Given the description of an element on the screen output the (x, y) to click on. 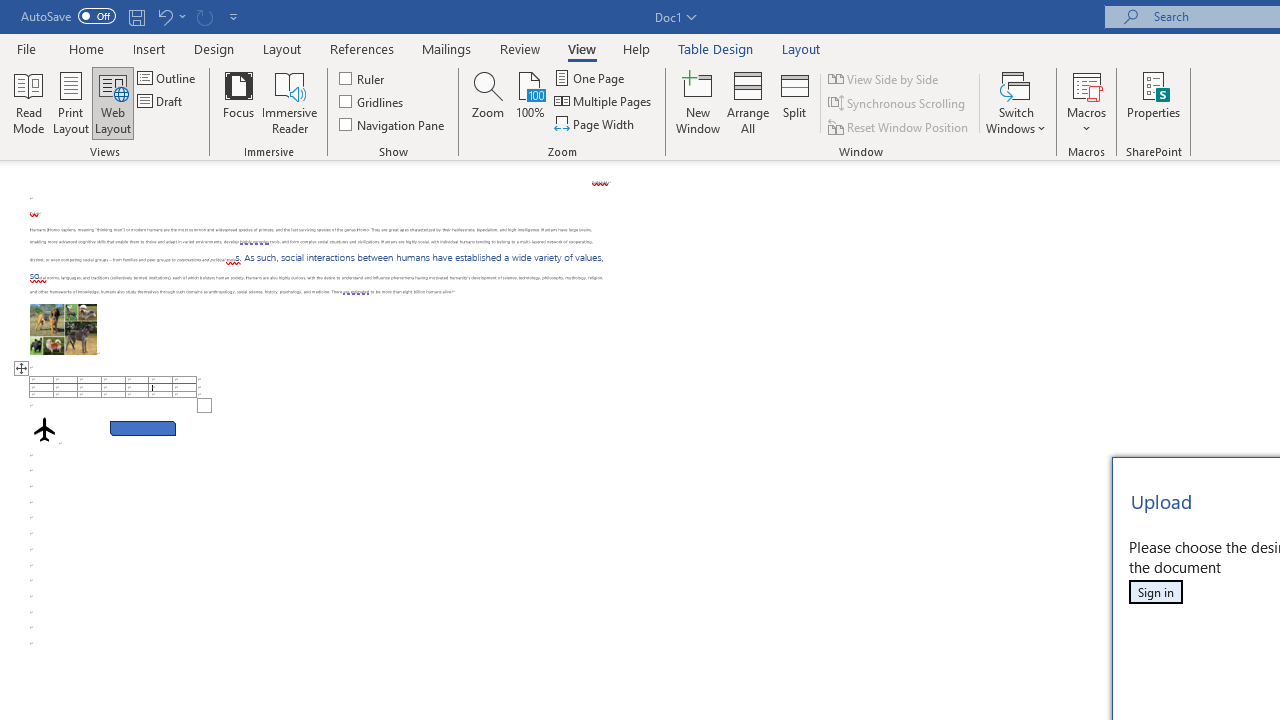
Customize Quick Access Toolbar (234, 15)
Web Layout (113, 102)
File Tab (26, 48)
View (582, 48)
Table Design (715, 48)
One Page (590, 78)
Outline (168, 78)
